Given the description of an element on the screen output the (x, y) to click on. 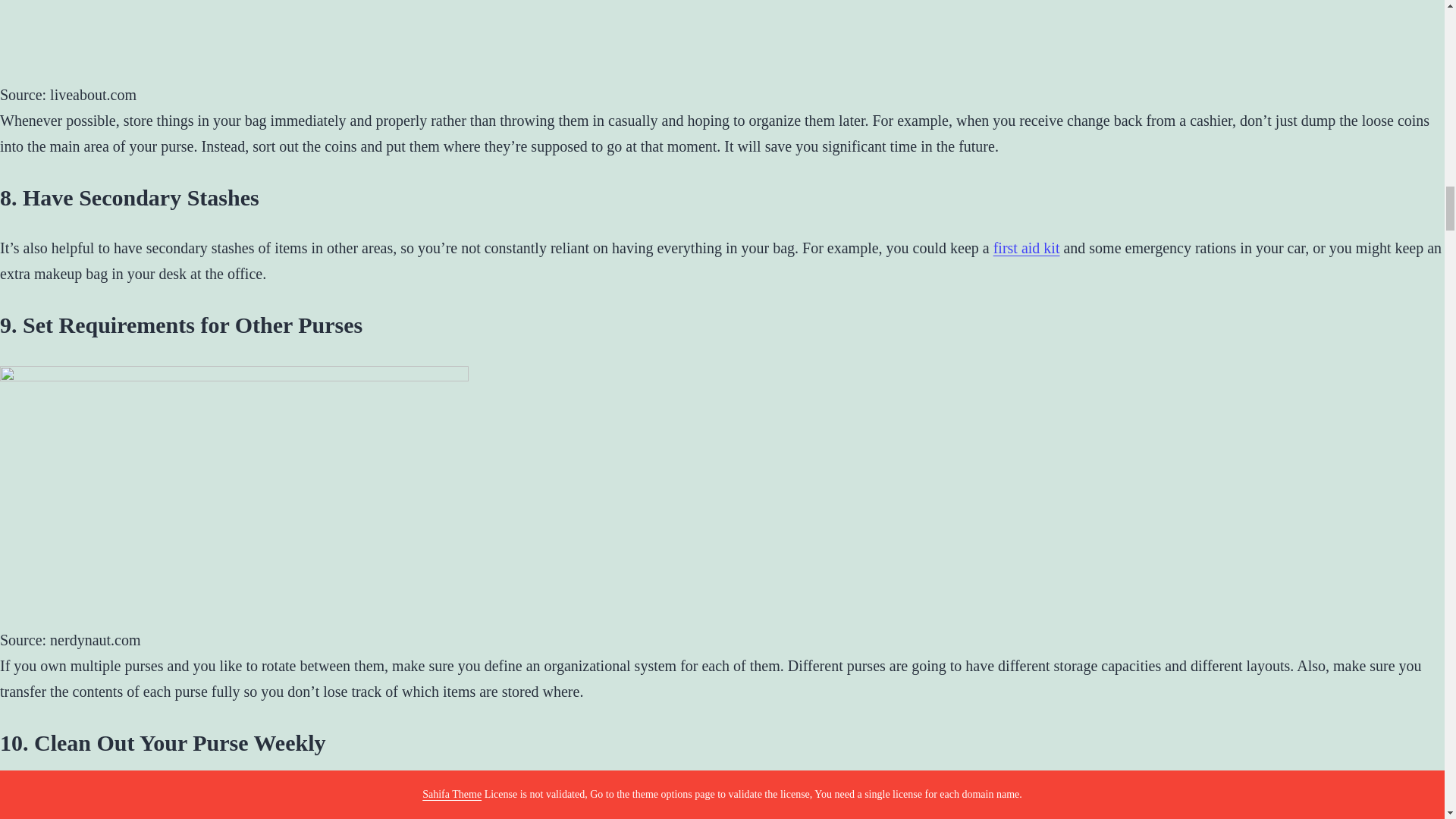
cleaning out your bag (400, 793)
first aid kit (1025, 247)
